Given the description of an element on the screen output the (x, y) to click on. 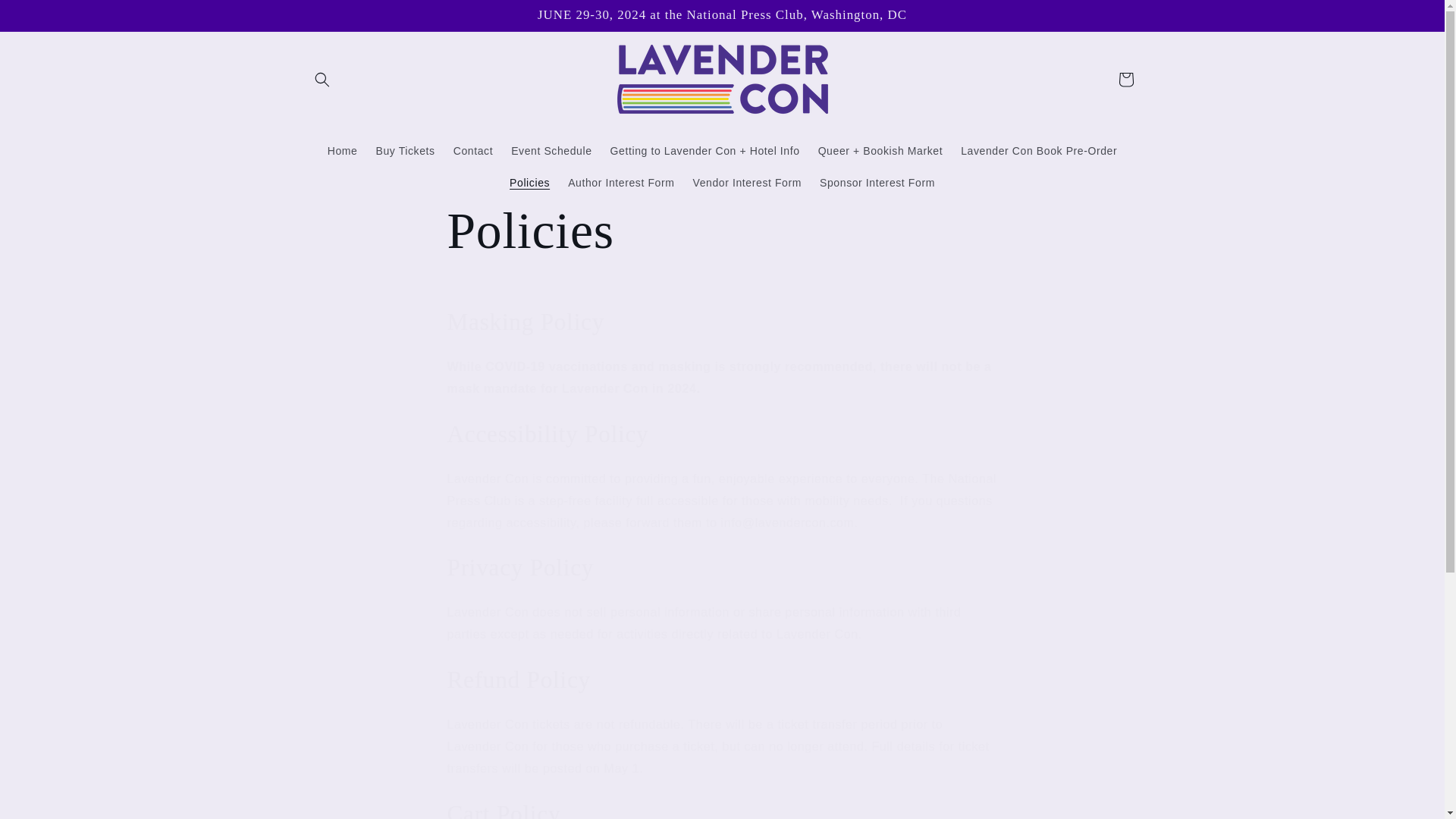
Buy Tickets (405, 151)
Cart (1124, 79)
Skip to content (45, 17)
Contact (473, 151)
Lavender Con Book Pre-Order (1038, 151)
Sponsor Interest Form (876, 183)
Event Schedule (550, 151)
Author Interest Form (620, 183)
Home (342, 151)
Policies (721, 230)
Policies (529, 183)
Vendor Interest Form (747, 183)
